Given the description of an element on the screen output the (x, y) to click on. 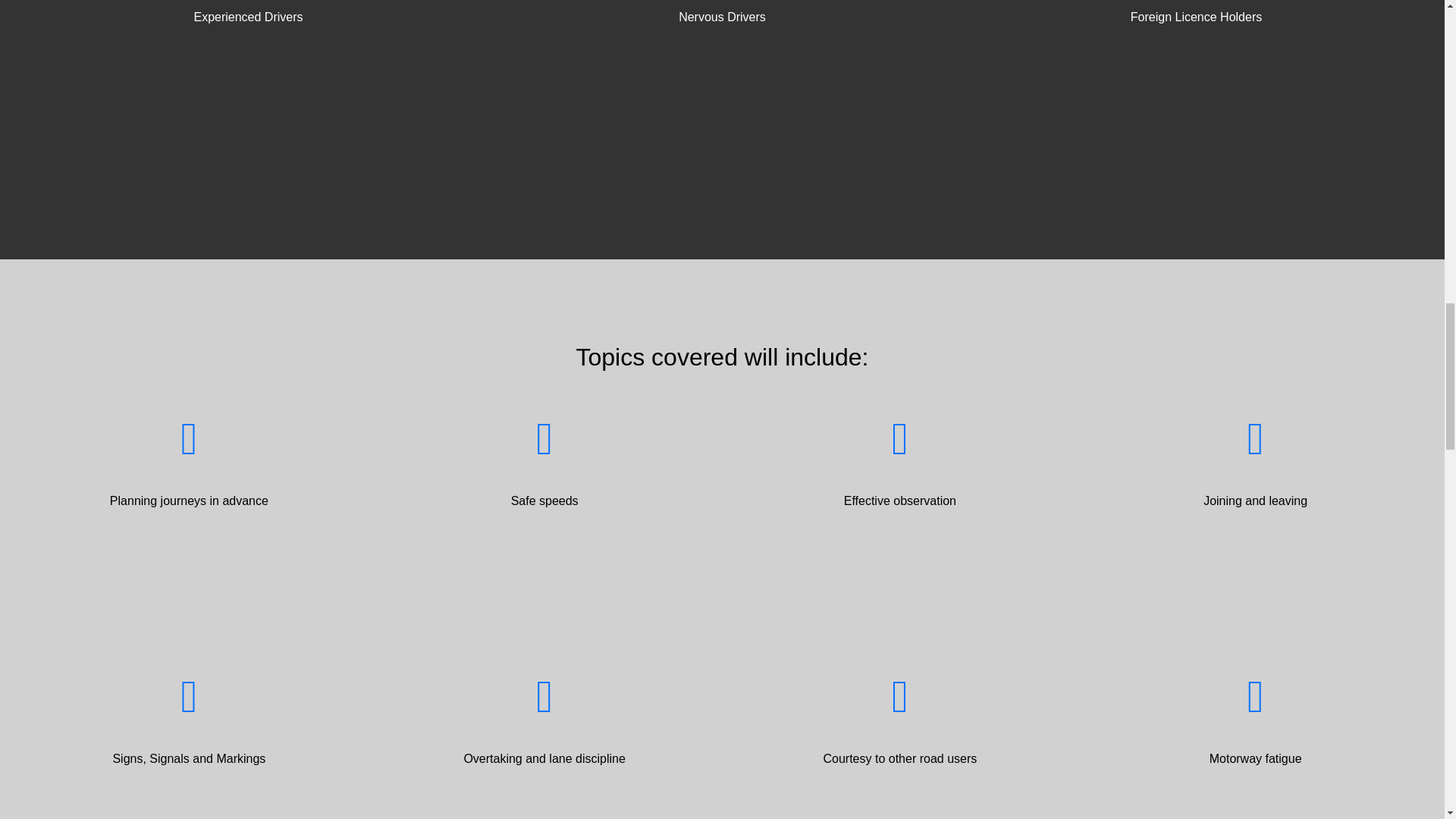
Nervous Drivers (721, 49)
Experienced Drivers (247, 49)
Foreign Licence Holders (1195, 49)
